Given the description of an element on the screen output the (x, y) to click on. 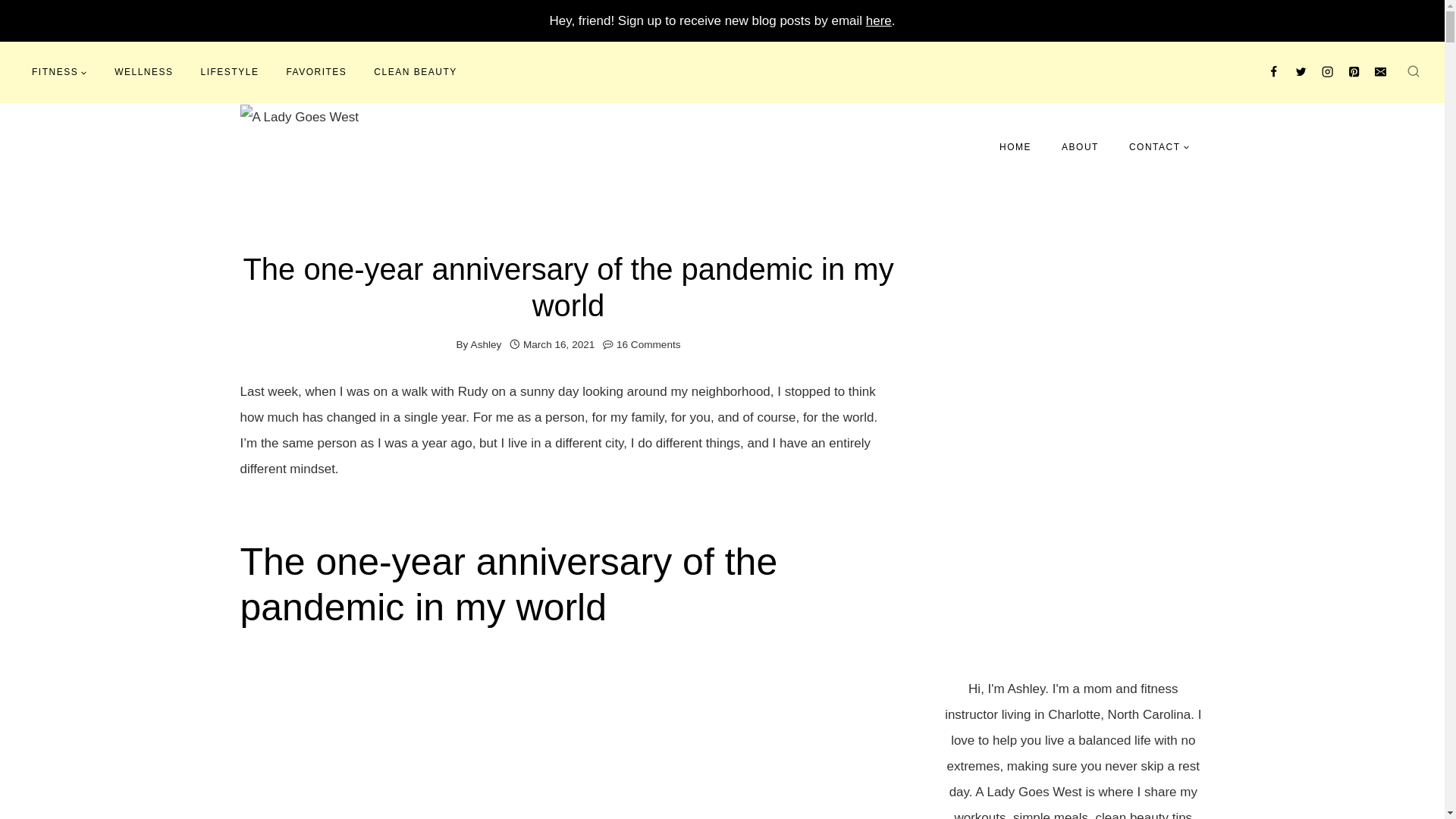
FITNESS (58, 71)
LIFESTYLE (230, 71)
16 Comments (648, 344)
CONTACT (1159, 145)
ABOUT (1079, 145)
FAVORITES (315, 71)
CLEAN BEAUTY (414, 71)
HOME (1015, 145)
WELLNESS (143, 71)
The one-year anniversary of the pandemic in my world (567, 734)
